Given the description of an element on the screen output the (x, y) to click on. 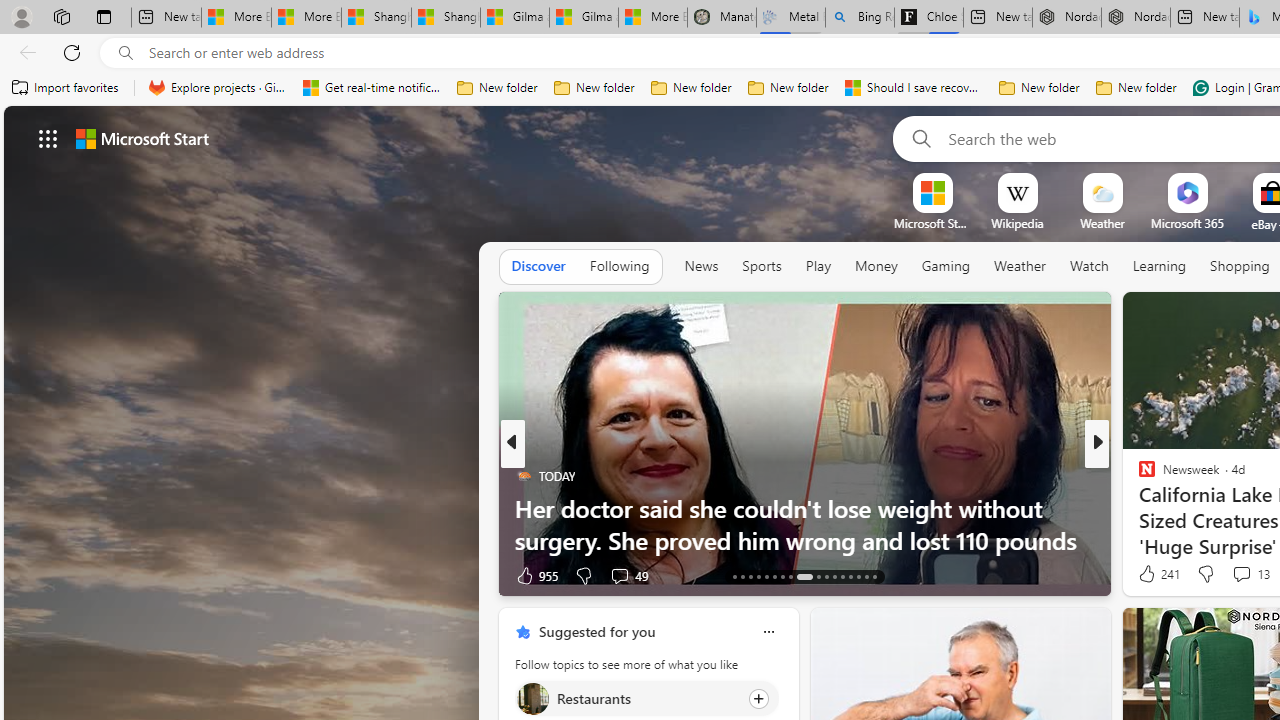
Play (818, 267)
Weather (1019, 267)
AutomationID: tab-27 (857, 576)
6 Like (1145, 574)
Wikipedia (1017, 223)
Chloe Sorvino (928, 17)
View comments 22 Comment (1244, 574)
Class: control (47, 138)
Learning (1159, 267)
AutomationID: tab-23 (825, 576)
Click to follow topic Restaurants (646, 698)
